Given the description of an element on the screen output the (x, y) to click on. 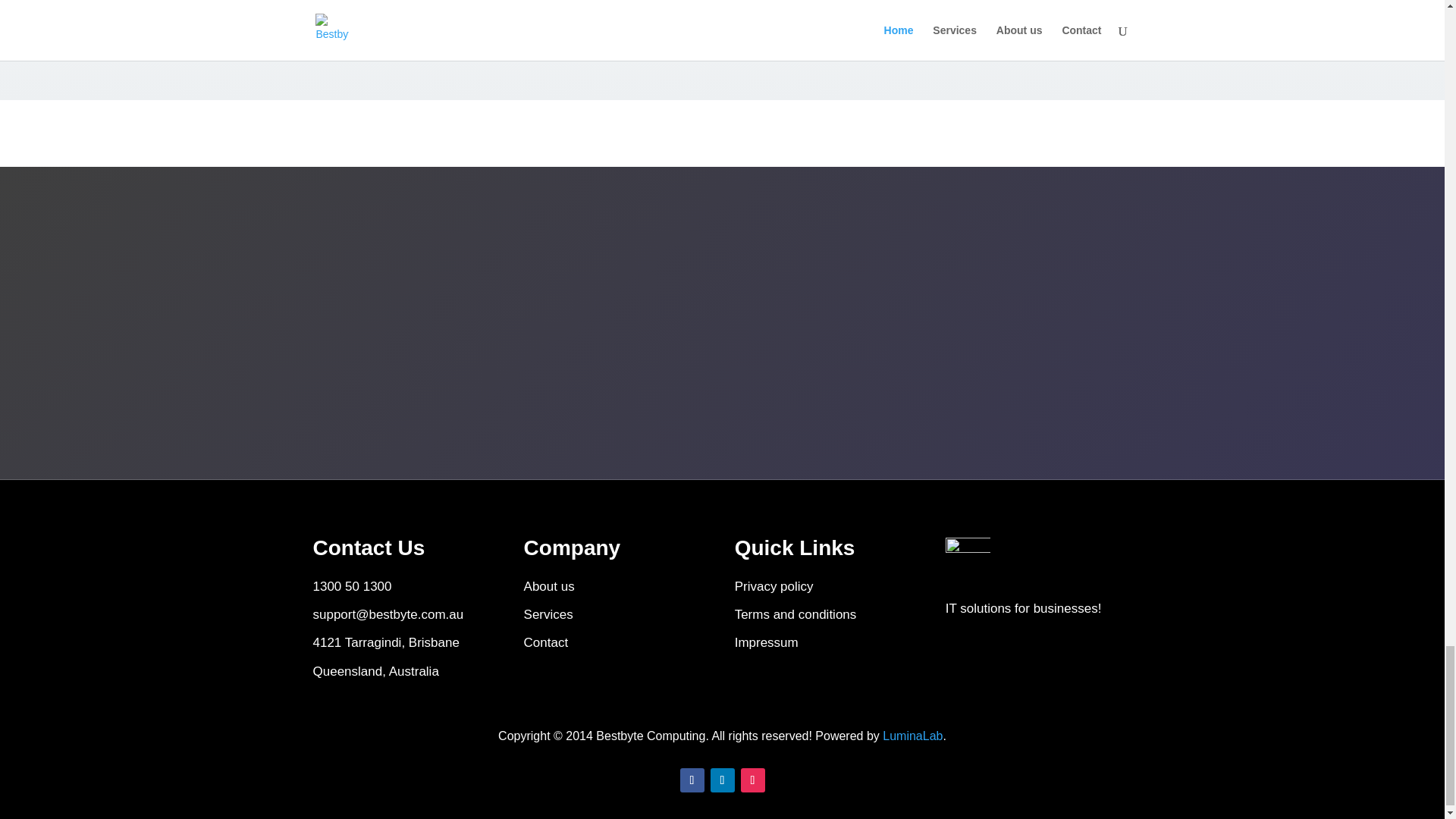
Contact (546, 642)
Terms and conditions (796, 614)
Impressum (766, 642)
About us (549, 586)
Follow on LinkedIn (721, 780)
LuminaLab (912, 735)
Follow on Facebook (691, 780)
Follow on Instagram (751, 780)
1300 50 1300 (352, 586)
Services (548, 614)
